Given the description of an element on the screen output the (x, y) to click on. 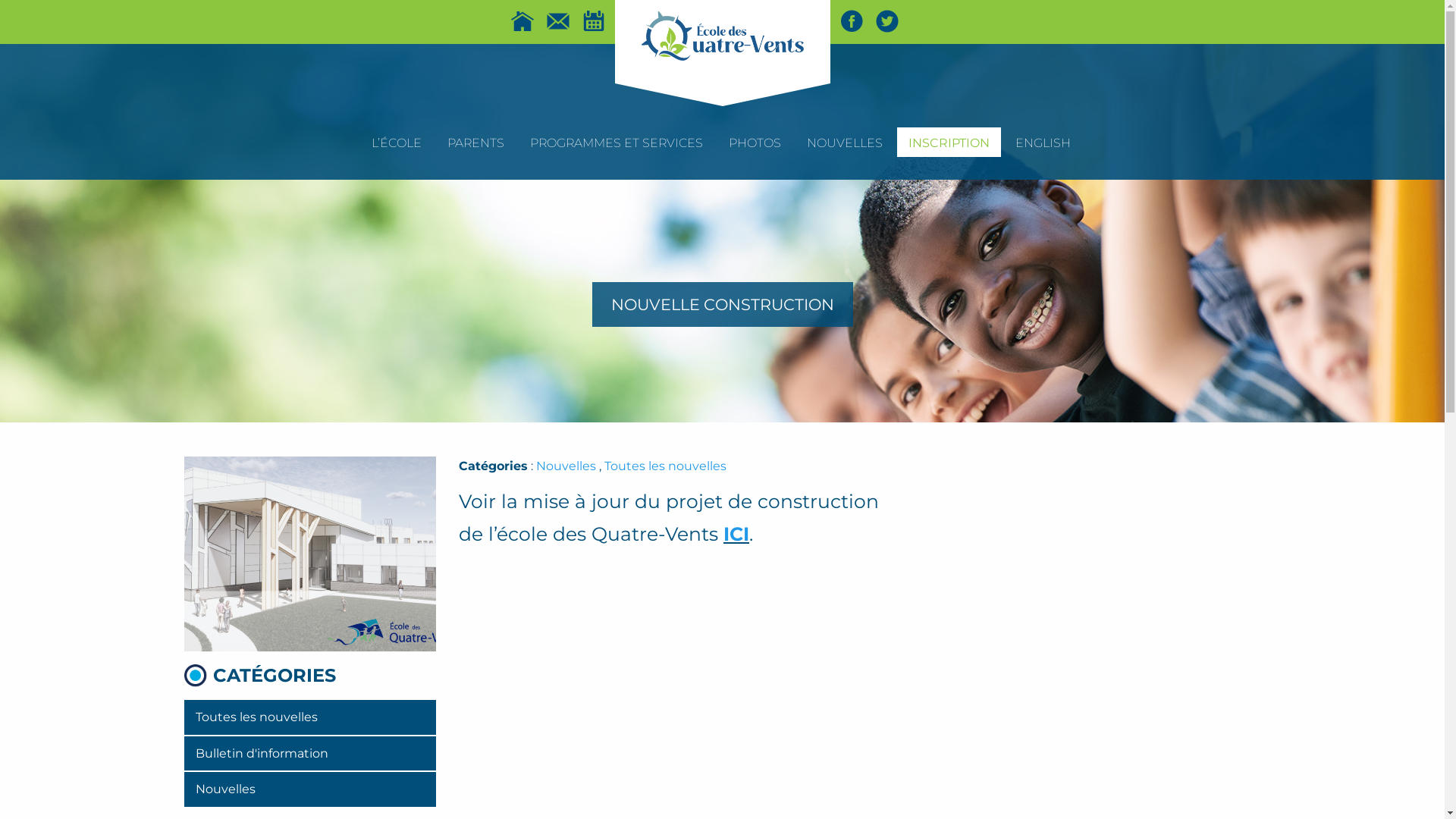
ICI Element type: text (736, 533)
Nouvelles Element type: text (309, 788)
Facebook du CSNO Element type: hover (851, 20)
Nouvelles Element type: text (566, 465)
Toutes les nouvelles Element type: text (309, 716)
Calendrier du CSNO Element type: hover (593, 20)
Contactez le CSNO Element type: hover (557, 20)
ENGLISH Element type: text (1043, 141)
PHOTOS Element type: text (754, 141)
Bulletin d'information Element type: text (309, 753)
PARENTS Element type: text (474, 141)
Twitter du CSNO Element type: hover (886, 20)
Accueil du CSNO Element type: hover (522, 20)
Toutes les nouvelles Element type: text (665, 465)
PROGRAMMES ET SERVICES Element type: text (616, 141)
INSCRIPTION Element type: text (948, 141)
NOUVELLES Element type: text (843, 141)
